Given the description of an element on the screen output the (x, y) to click on. 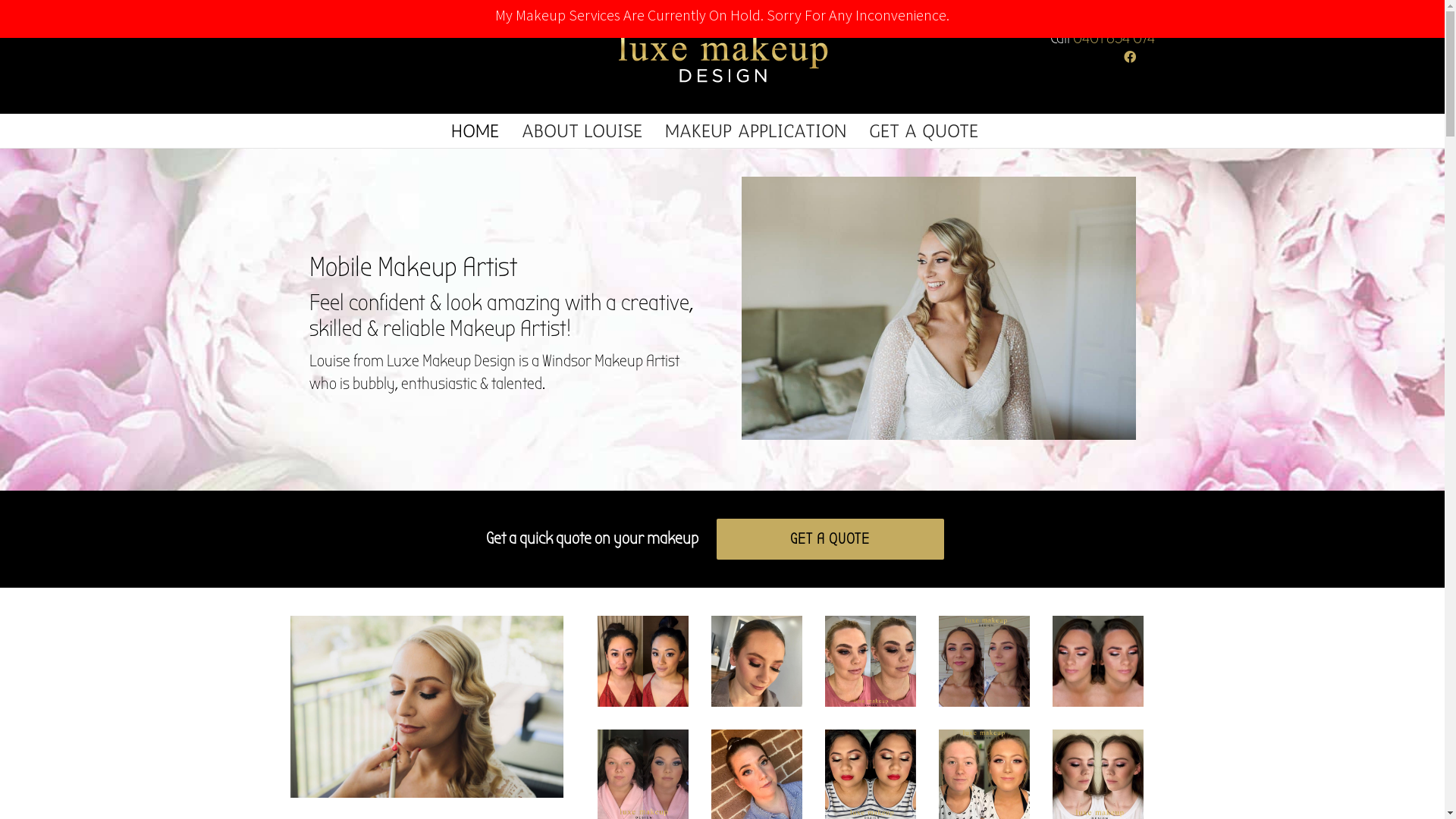
ABOUT LOUISE Element type: text (581, 130)
HOME Element type: text (474, 130)
MAKEUP APPLICATION Element type: text (755, 130)
GET A QUOTE Element type: text (829, 538)
GET A QUOTE Element type: text (923, 130)
0401 854 074 Element type: text (1113, 37)
